Given the description of an element on the screen output the (x, y) to click on. 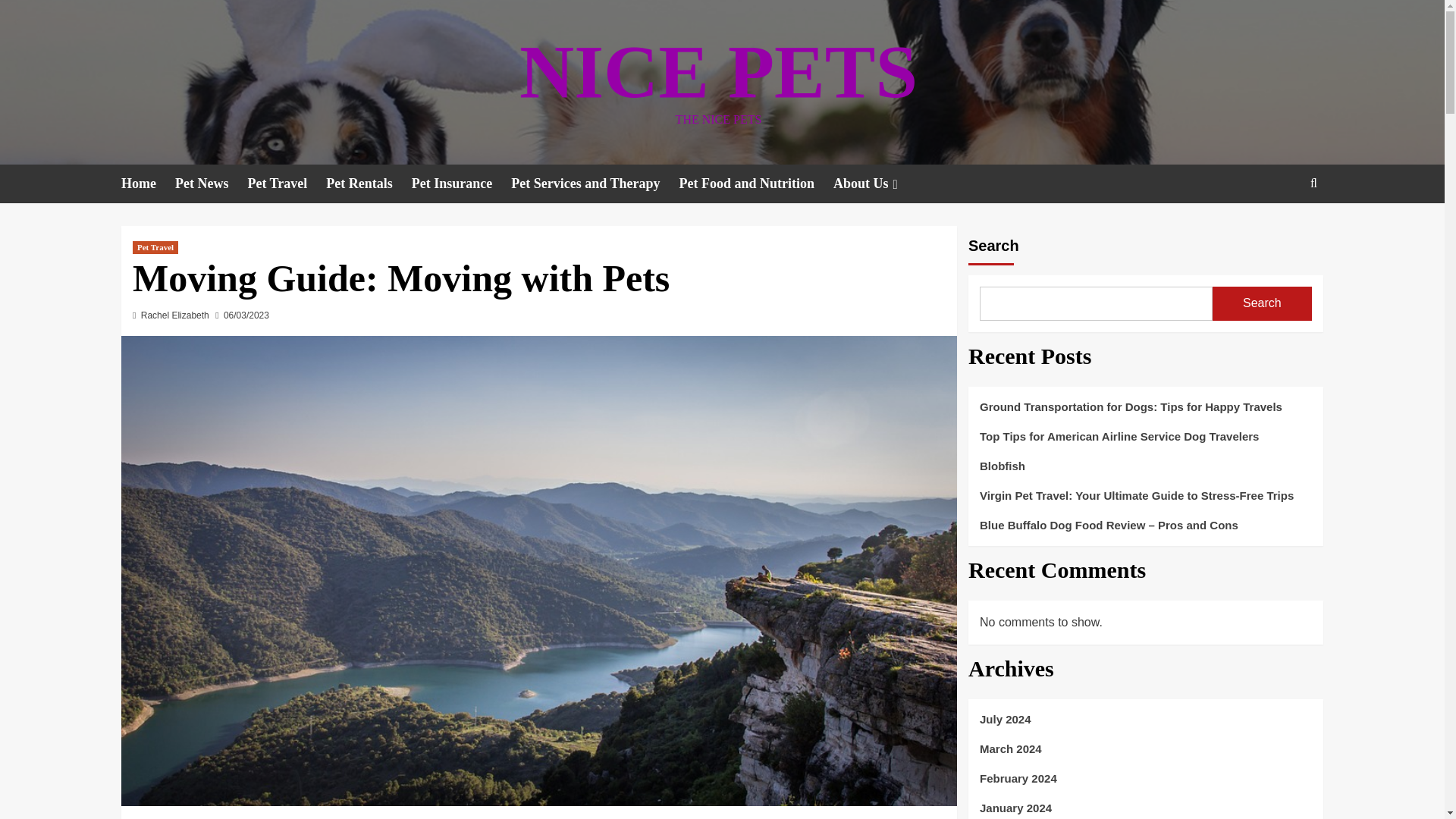
Search (1278, 229)
Search (1313, 182)
Pet Services and Therapy (594, 183)
Pet Insurance (462, 183)
Pet Travel (154, 246)
Pet News (210, 183)
Home (147, 183)
Pet Travel (286, 183)
Pet Food and Nutrition (755, 183)
Pet Rentals (368, 183)
About Us (876, 183)
NICE PETS (718, 71)
Rachel Elizabeth (175, 315)
